Given the description of an element on the screen output the (x, y) to click on. 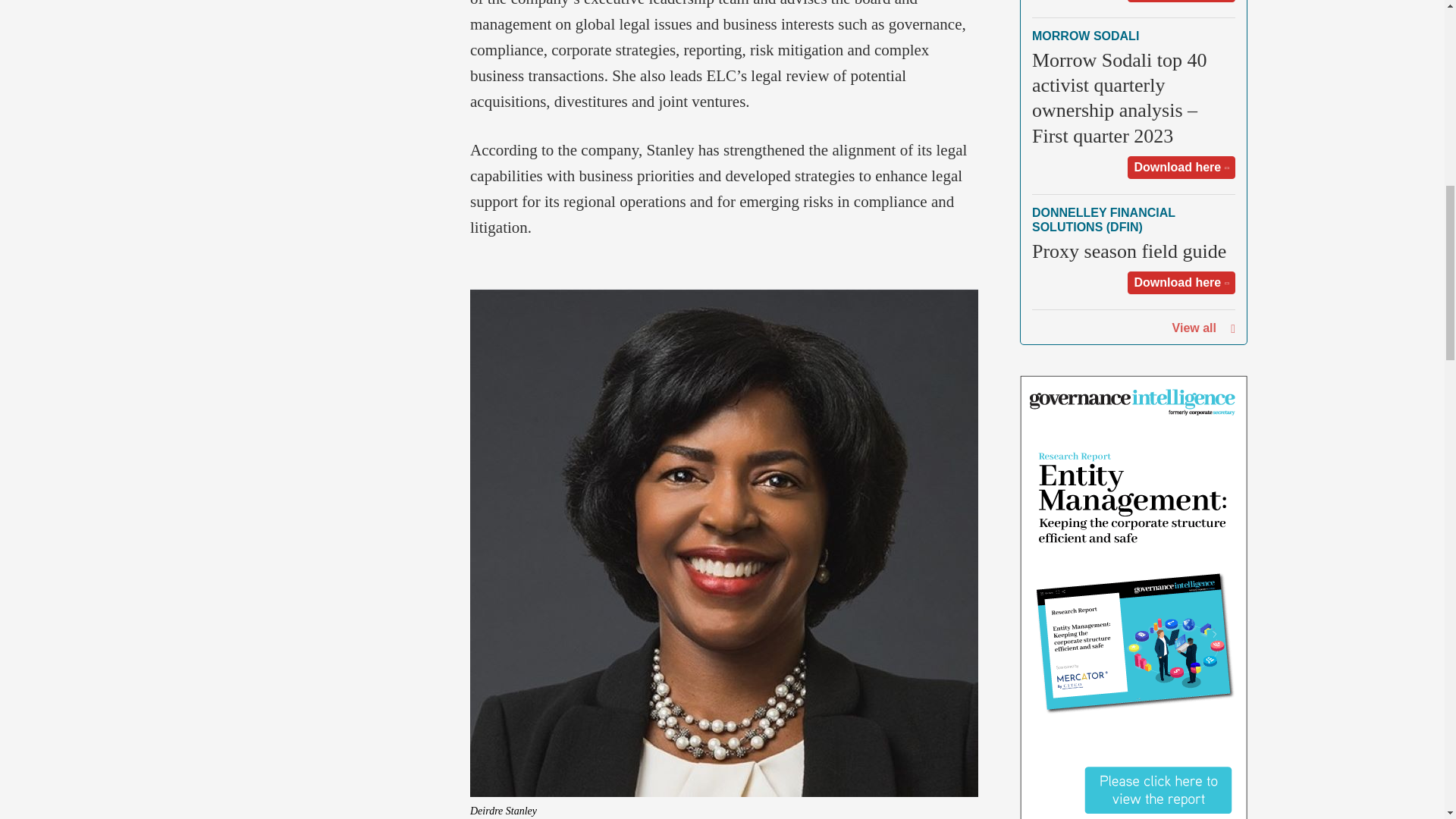
Download here (1180, 282)
Download here (1180, 1)
View all (1193, 328)
Proxy season field guide (1128, 251)
Download here (1180, 167)
